Given the description of an element on the screen output the (x, y) to click on. 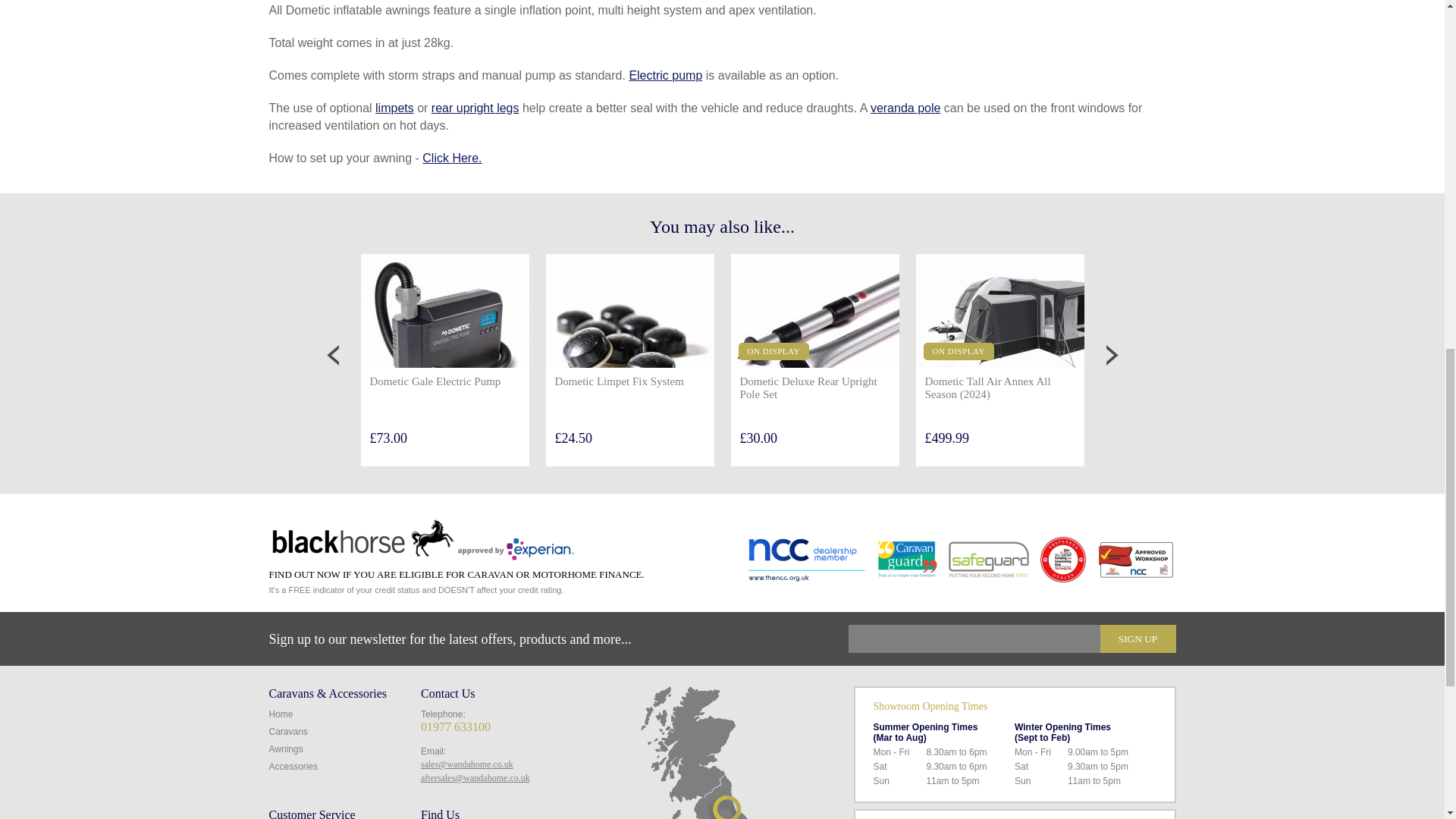
Limpet set (394, 107)
Dometic Awning Installation Video (451, 157)
Rear Upright Legs (474, 107)
Dometic Adjustable Veranda Pole (905, 107)
Sign Up (1136, 638)
Dometic Gale Pump (664, 74)
